Given the description of an element on the screen output the (x, y) to click on. 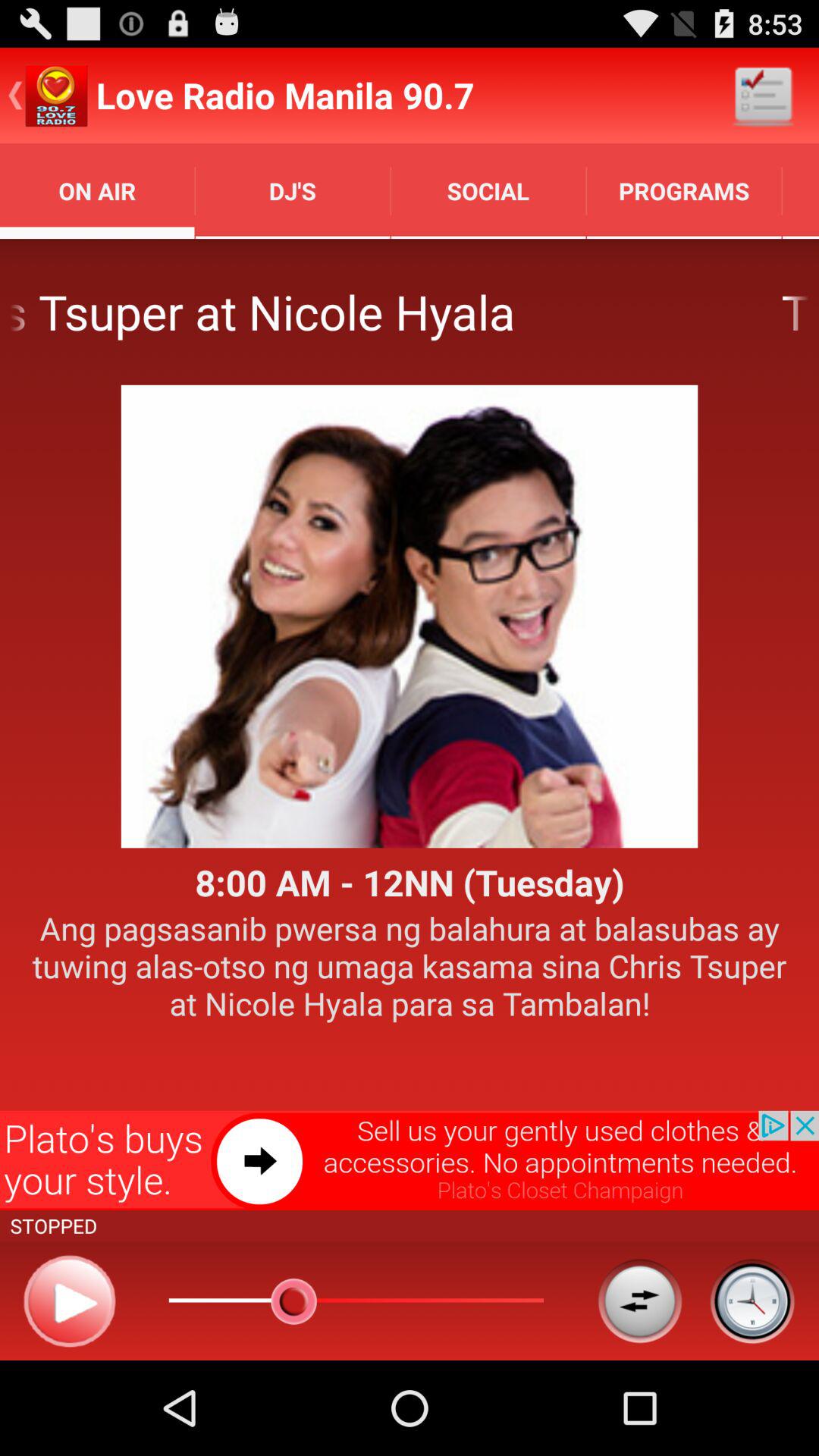
choose app above the programs item (763, 95)
